Given the description of an element on the screen output the (x, y) to click on. 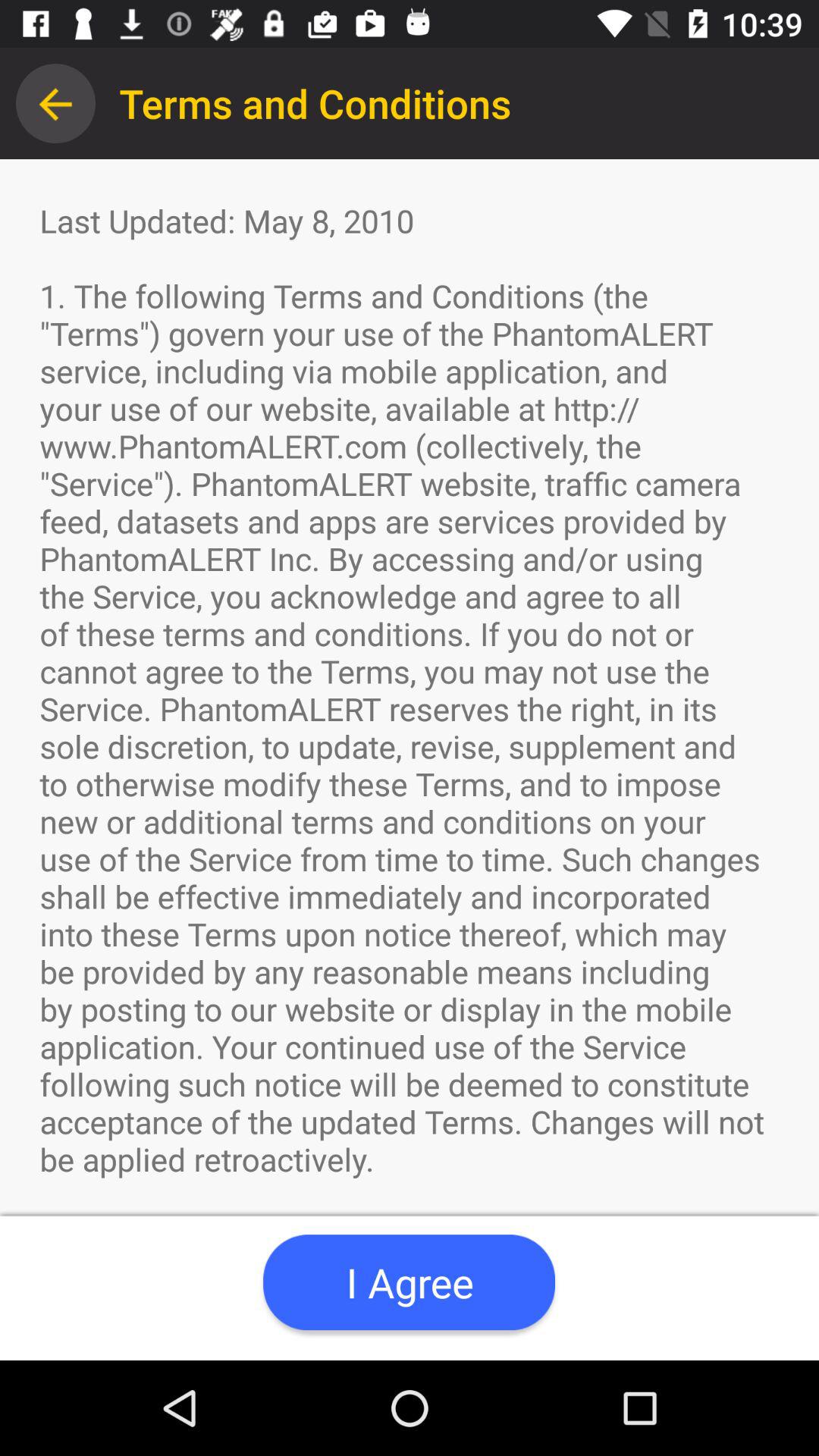
launch the app next to terms and conditions app (55, 103)
